Given the description of an element on the screen output the (x, y) to click on. 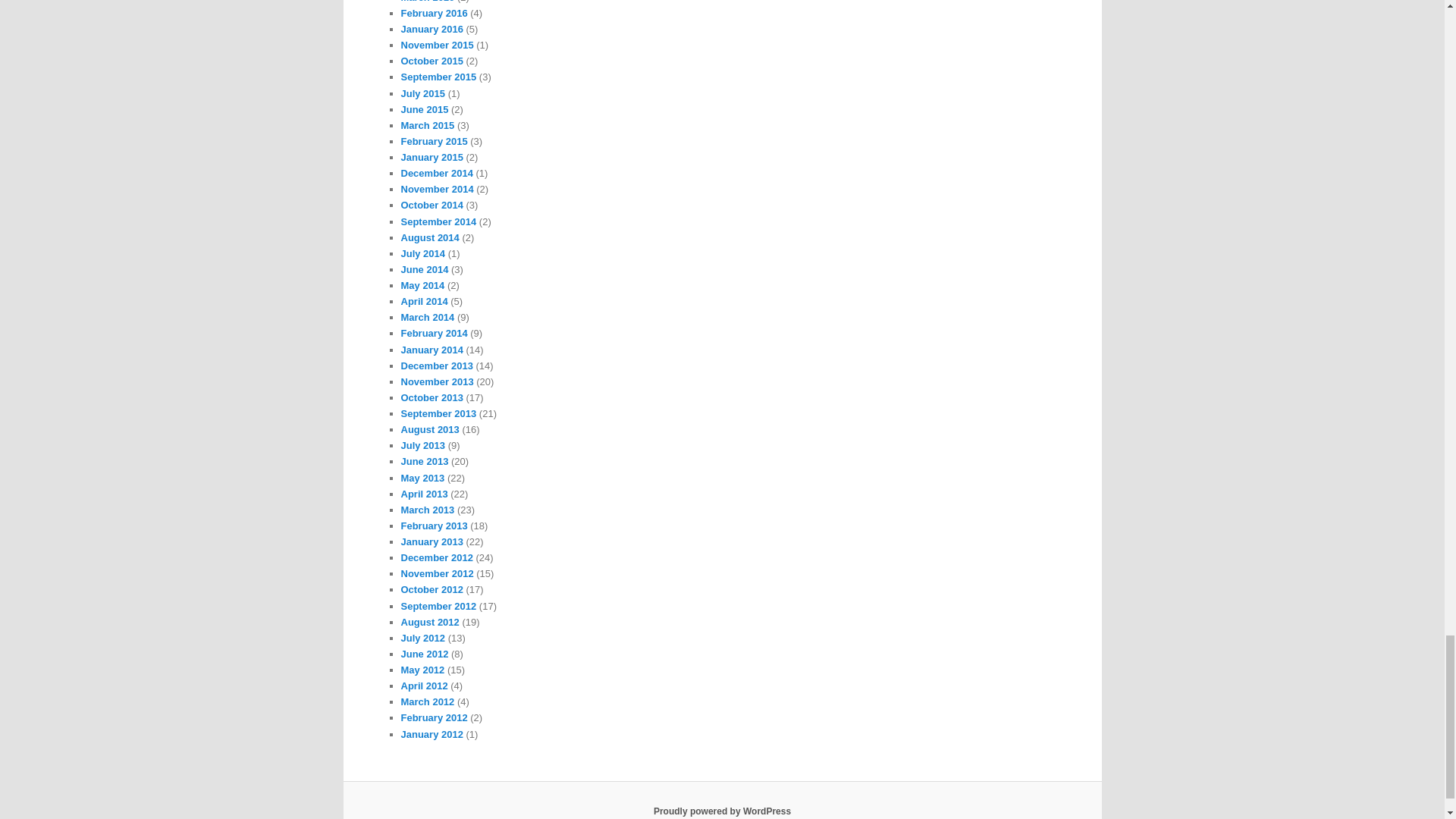
Semantic Personal Publishing Platform (721, 810)
